Given the description of an element on the screen output the (x, y) to click on. 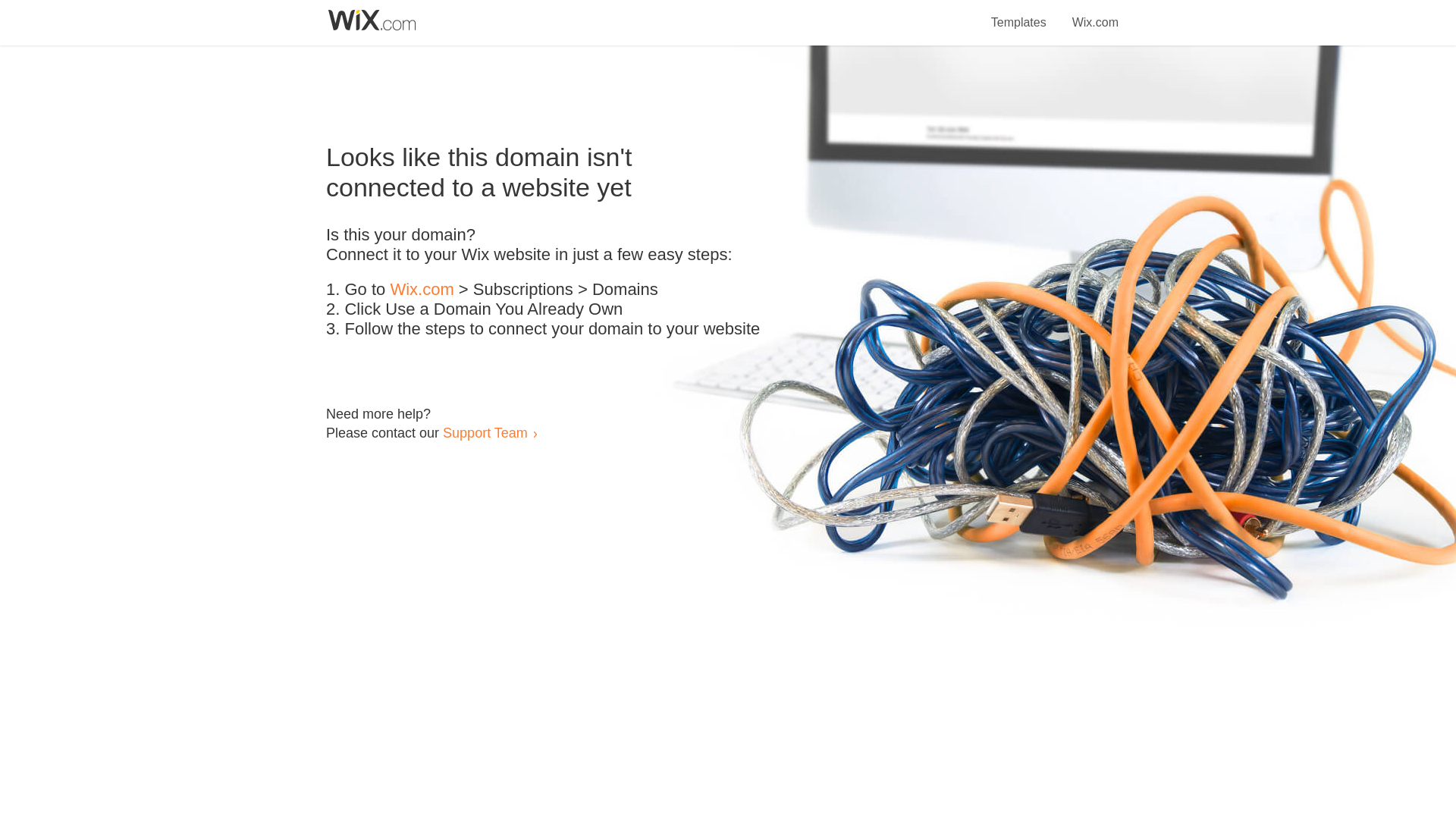
Support Team (484, 432)
Wix.com (421, 289)
Templates (1018, 14)
Wix.com (1095, 14)
